Given the description of an element on the screen output the (x, y) to click on. 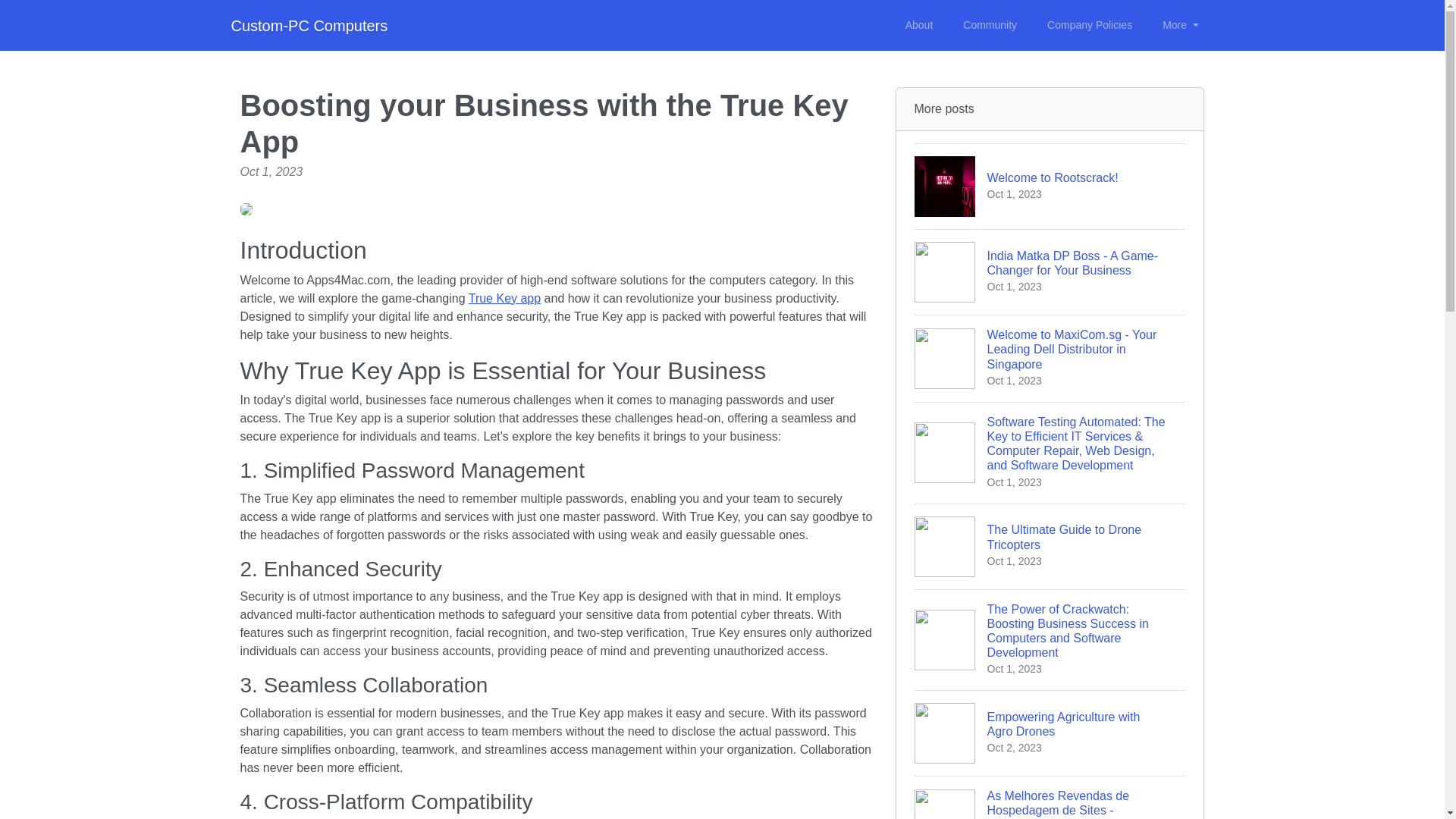
Community (989, 25)
About (919, 25)
More (1050, 545)
Custom-PC Computers (1180, 25)
Company Policies (308, 25)
True Key app (1089, 25)
